Given the description of an element on the screen output the (x, y) to click on. 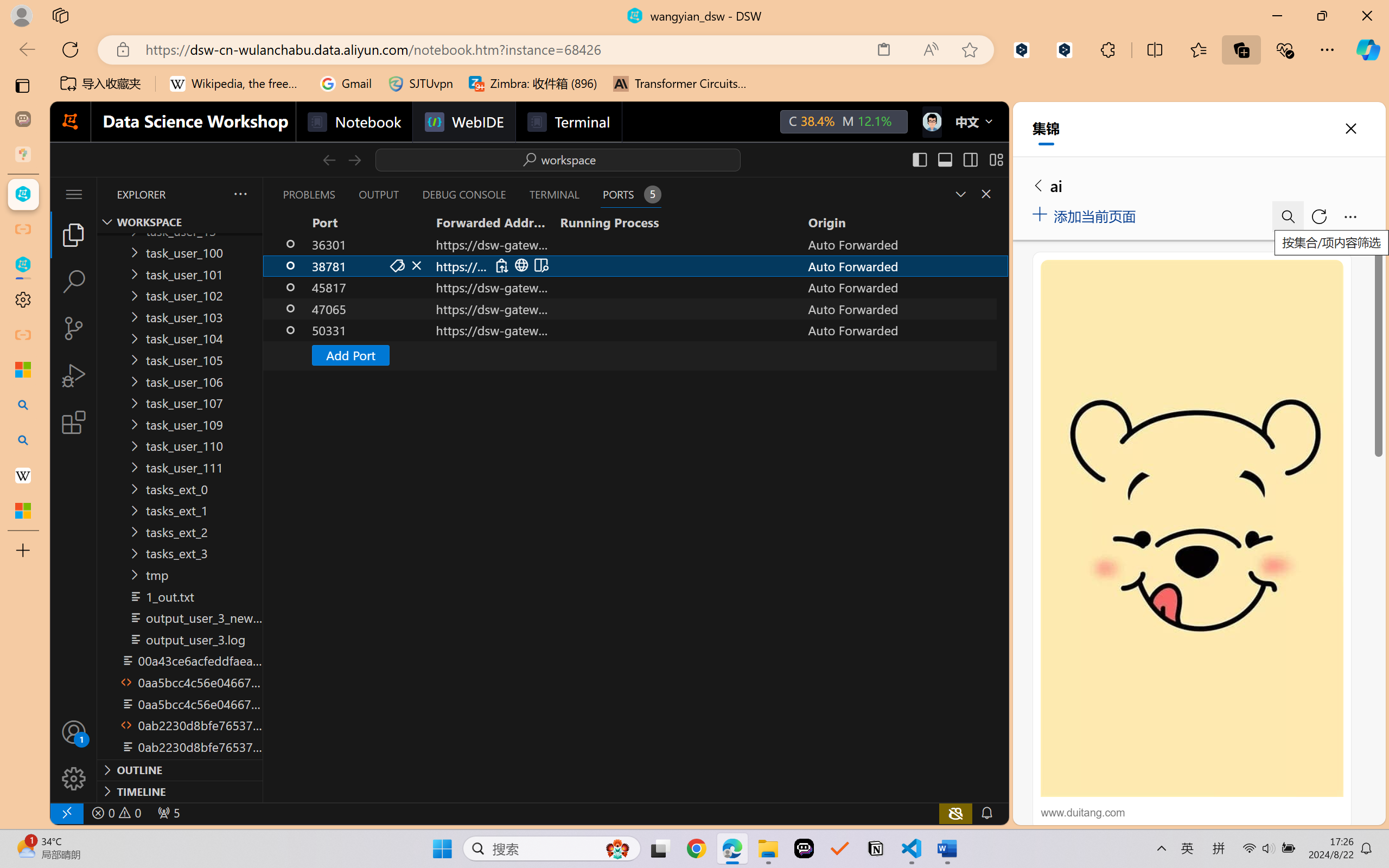
remote (66, 812)
icon (930, 121)
Timeline Section (179, 791)
Output (Ctrl+Shift+U) (377, 194)
Add Port (635, 355)
Class: menubar compact overflow-menu-only (73, 194)
Restore Panel Size (959, 193)
No Problems (115, 812)
Close Panel (986, 193)
Class: next-menu next-hoz widgets--iconMenu--BFkiHRM (930, 121)
